Given the description of an element on the screen output the (x, y) to click on. 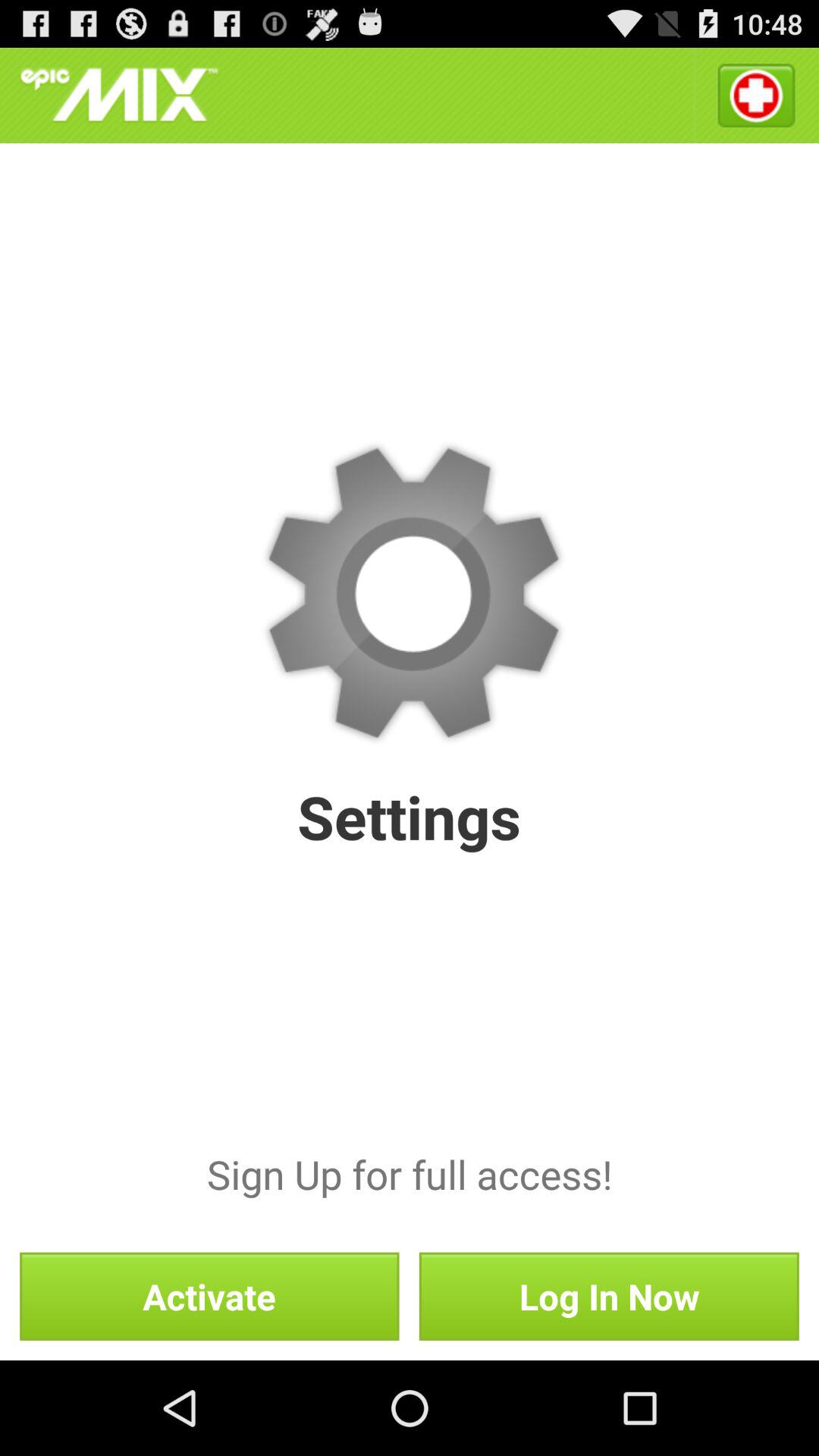
turn off the item next to the log in now button (209, 1296)
